Given the description of an element on the screen output the (x, y) to click on. 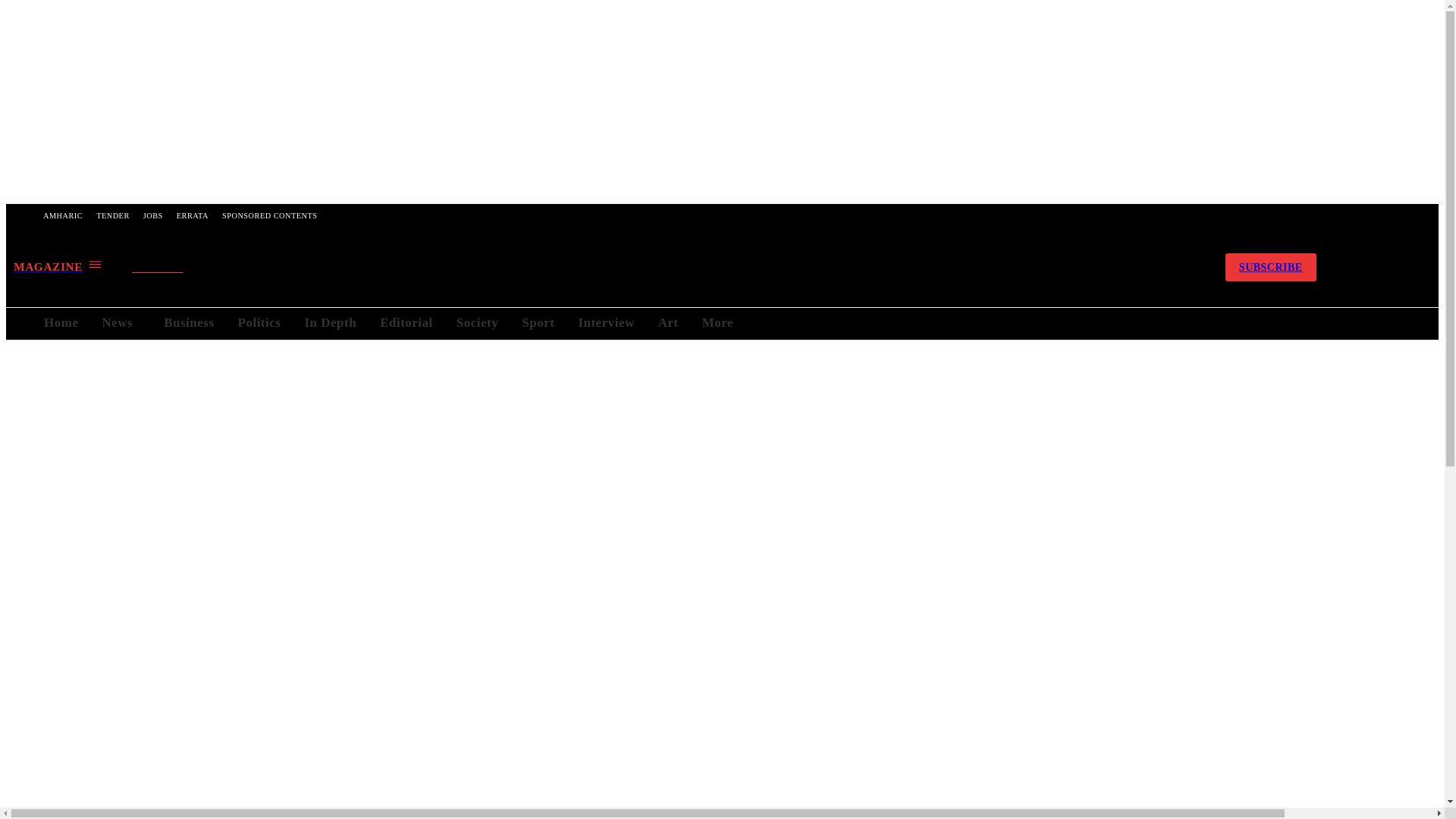
MAGAZINE (57, 266)
Magazine (57, 266)
The Reporter Ethiopia, Ethiopian News (664, 267)
SPONSORED CONTENTS (269, 216)
Facebook (1071, 267)
SEARCH (170, 267)
TENDER (112, 216)
Telegram (1110, 267)
Twitter (1151, 267)
The Reporter Ethiopia, Ethiopian News (665, 267)
